Given the description of an element on the screen output the (x, y) to click on. 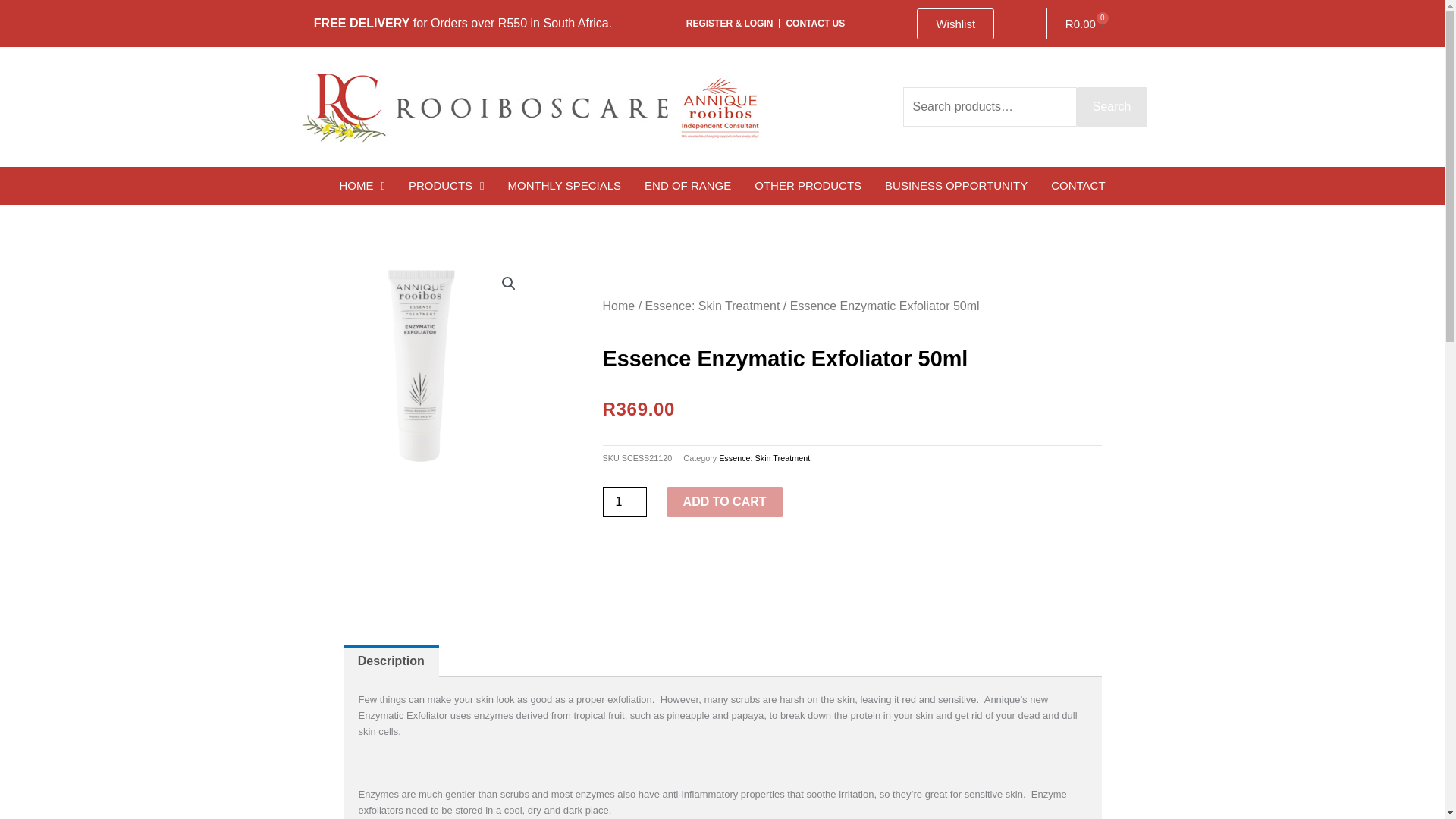
Search (1084, 23)
CONTACT US (1112, 106)
PRODUCTS (815, 23)
HOME (446, 185)
Wishlist (361, 185)
1 (955, 22)
